Given the description of an element on the screen output the (x, y) to click on. 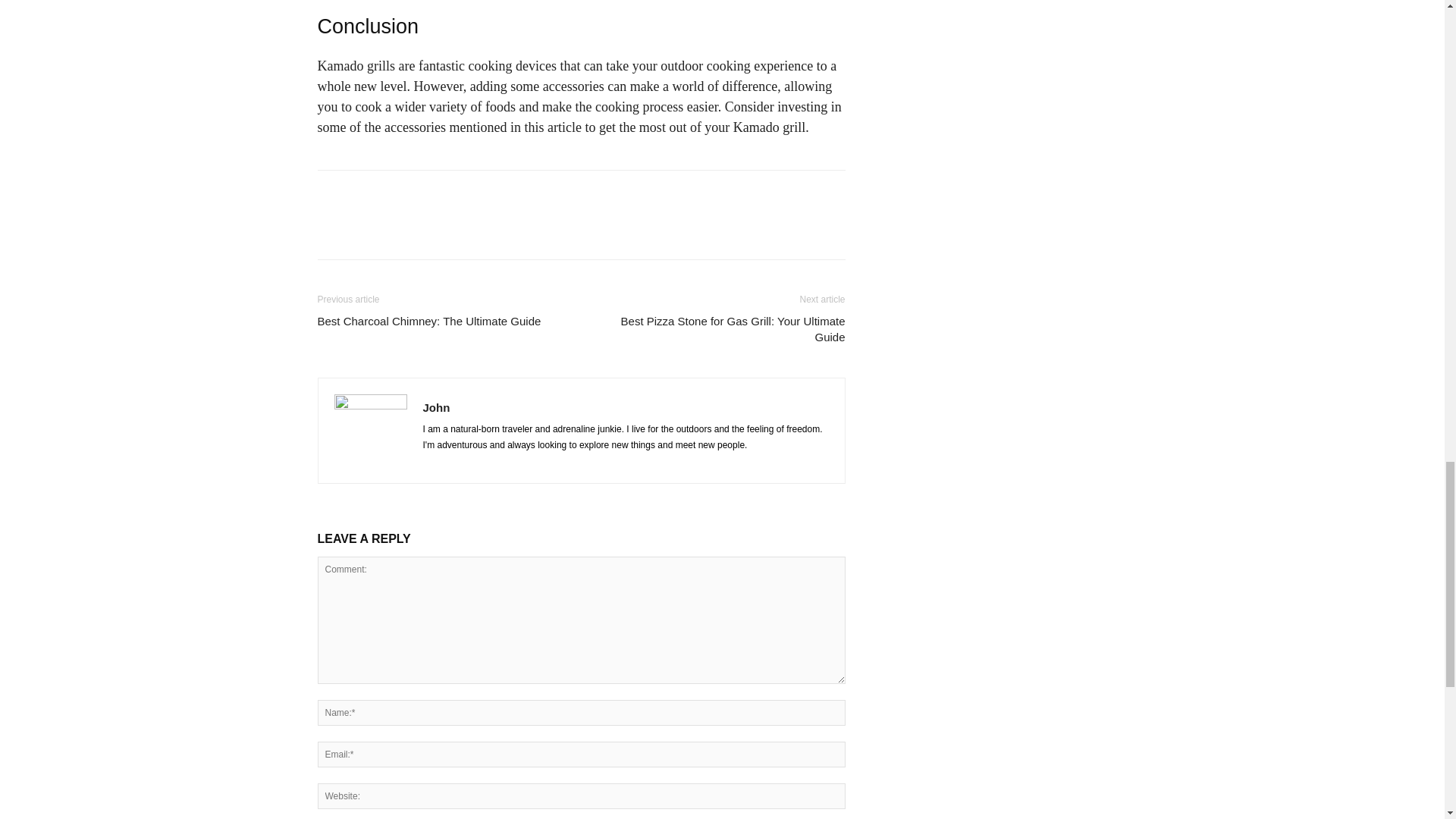
bottomFacebookLike (430, 194)
Best Pizza Stone for Gas Grill: Your Ultimate Guide (721, 328)
Best Charcoal Chimney: The Ultimate Guide (428, 320)
John (436, 407)
